Given the description of an element on the screen output the (x, y) to click on. 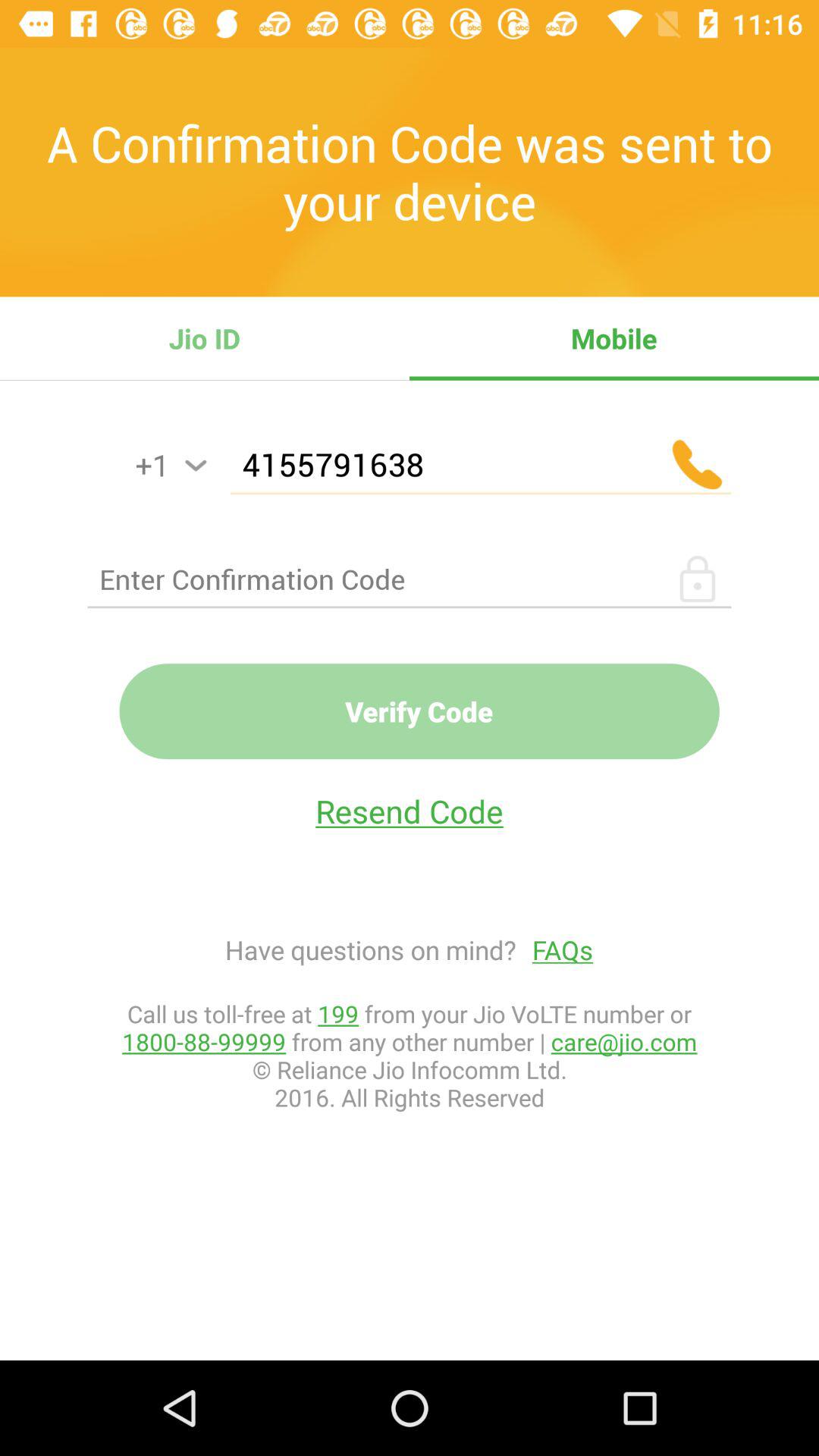
conformation code option (409, 578)
